Given the description of an element on the screen output the (x, y) to click on. 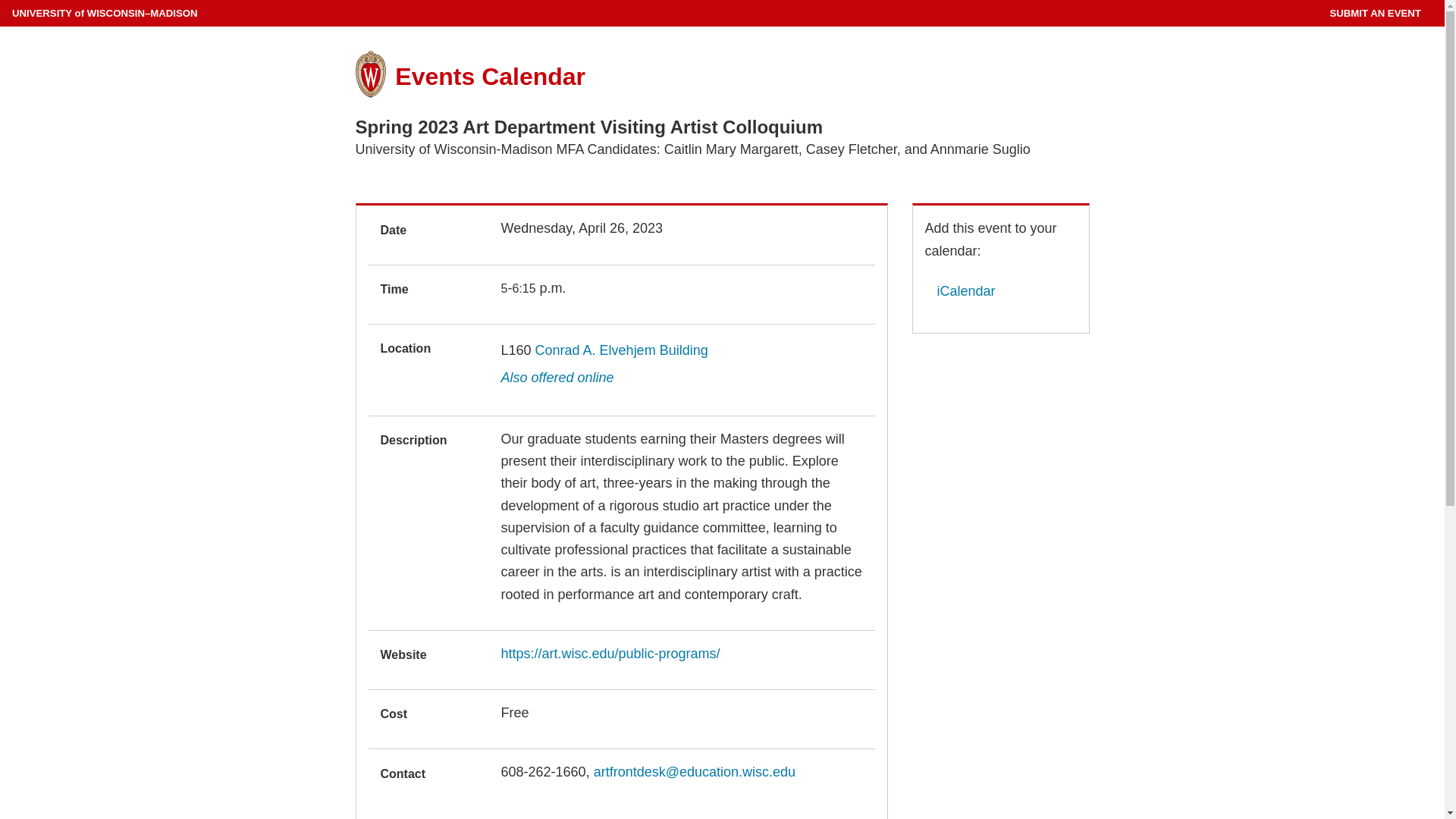
Skip to main content (3, 3)
SUBMIT AN EVENT (1375, 13)
Conrad A. Elvehjem Building (621, 350)
Also offered online (556, 377)
Events Calendar (489, 76)
608-262-1660 (542, 771)
iCalendar (959, 290)
